Given the description of an element on the screen output the (x, y) to click on. 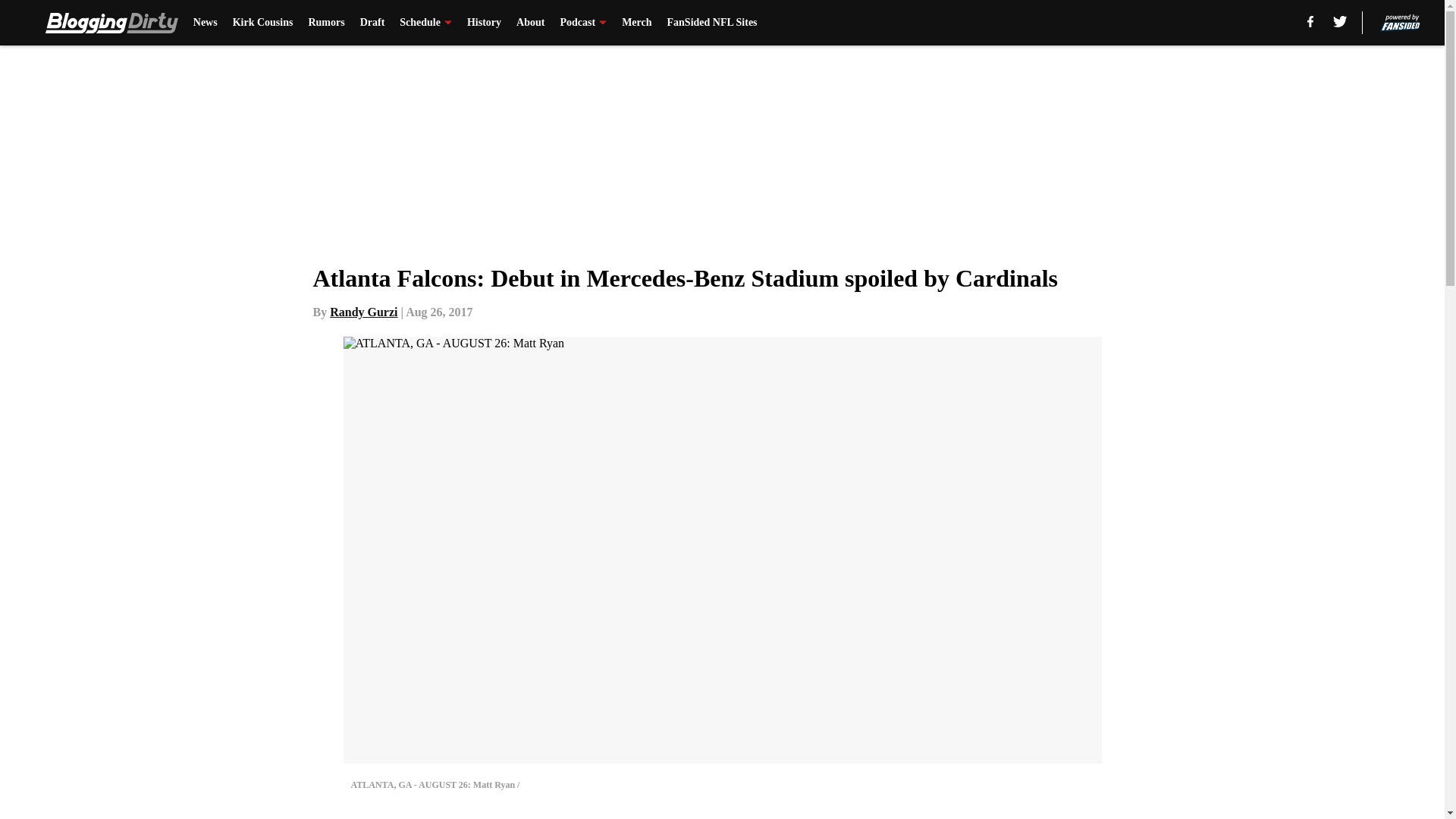
FanSided NFL Sites (711, 22)
Draft (372, 22)
About (530, 22)
Kirk Cousins (263, 22)
Rumors (325, 22)
Merch (635, 22)
Randy Gurzi (363, 311)
News (204, 22)
History (483, 22)
